Given the description of an element on the screen output the (x, y) to click on. 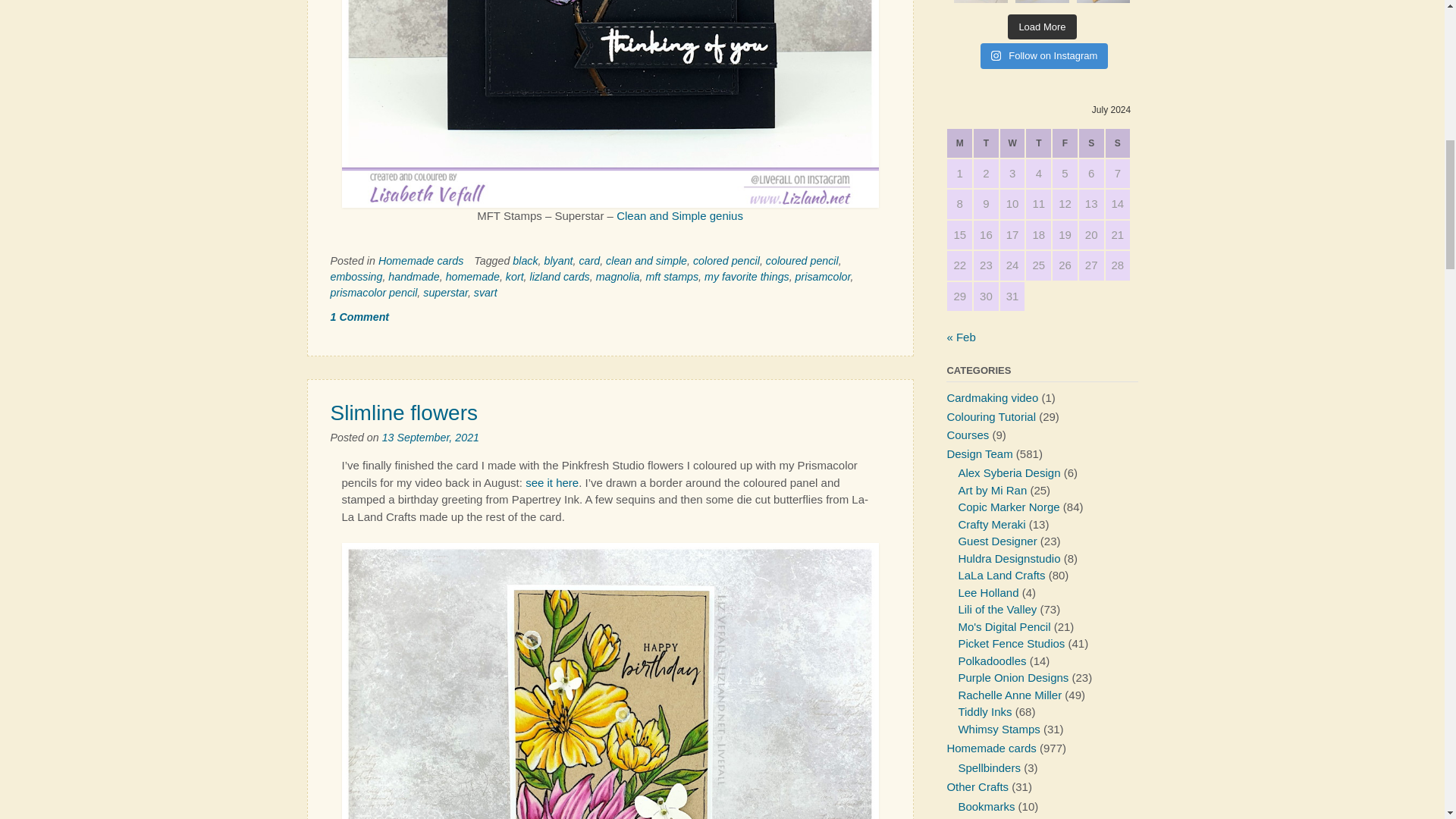
Homemade cards (420, 260)
Clean and Simple genius (678, 215)
handmade (413, 276)
embossing (356, 276)
clean and simple (646, 260)
black (524, 260)
kort (514, 276)
coloured pencil (801, 260)
colored pencil (726, 260)
card (588, 260)
homemade (472, 276)
blyant (558, 260)
